Given the description of an element on the screen output the (x, y) to click on. 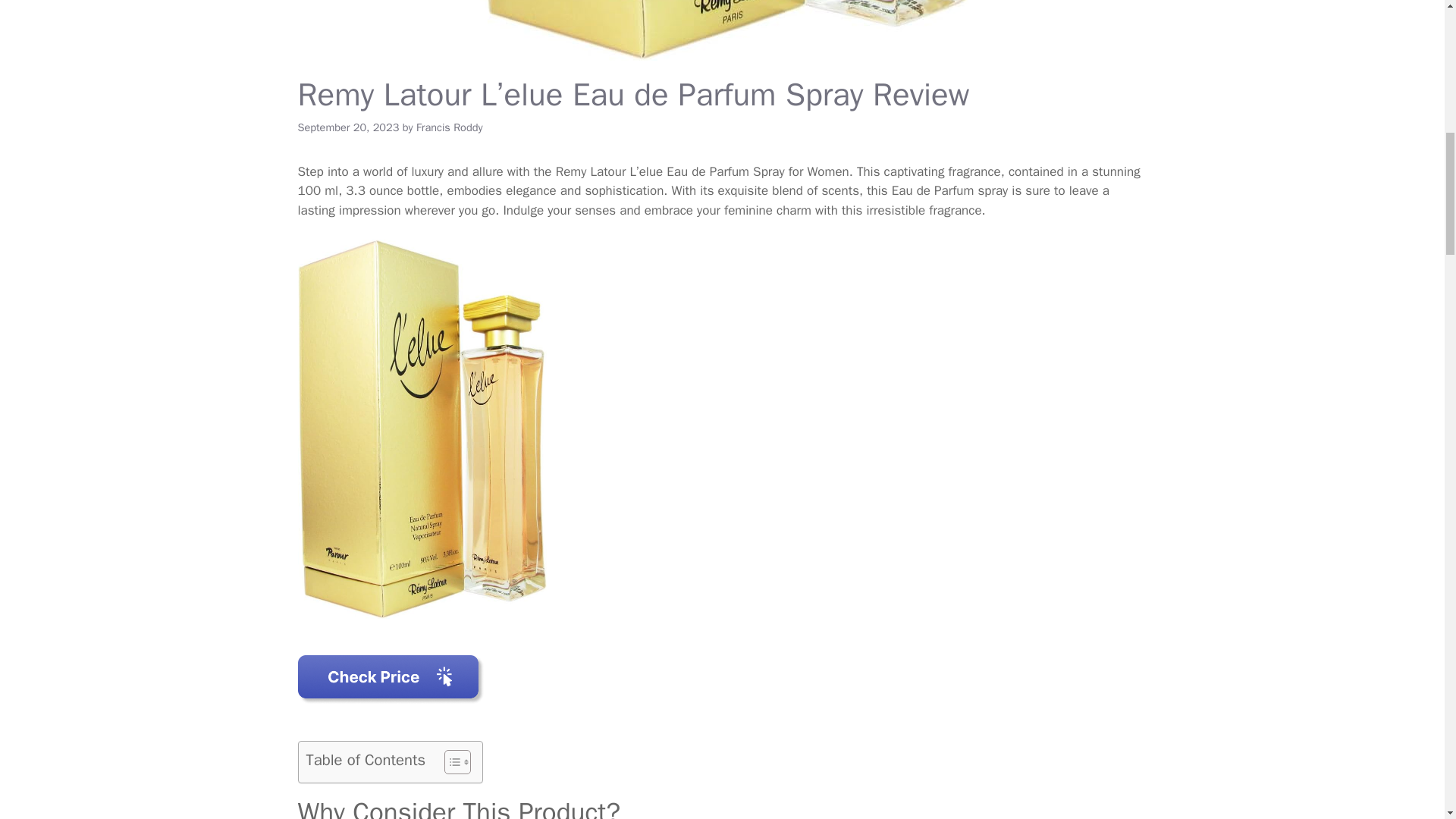
View all posts by Francis Roddy (449, 127)
Francis Roddy (449, 127)
